Given the description of an element on the screen output the (x, y) to click on. 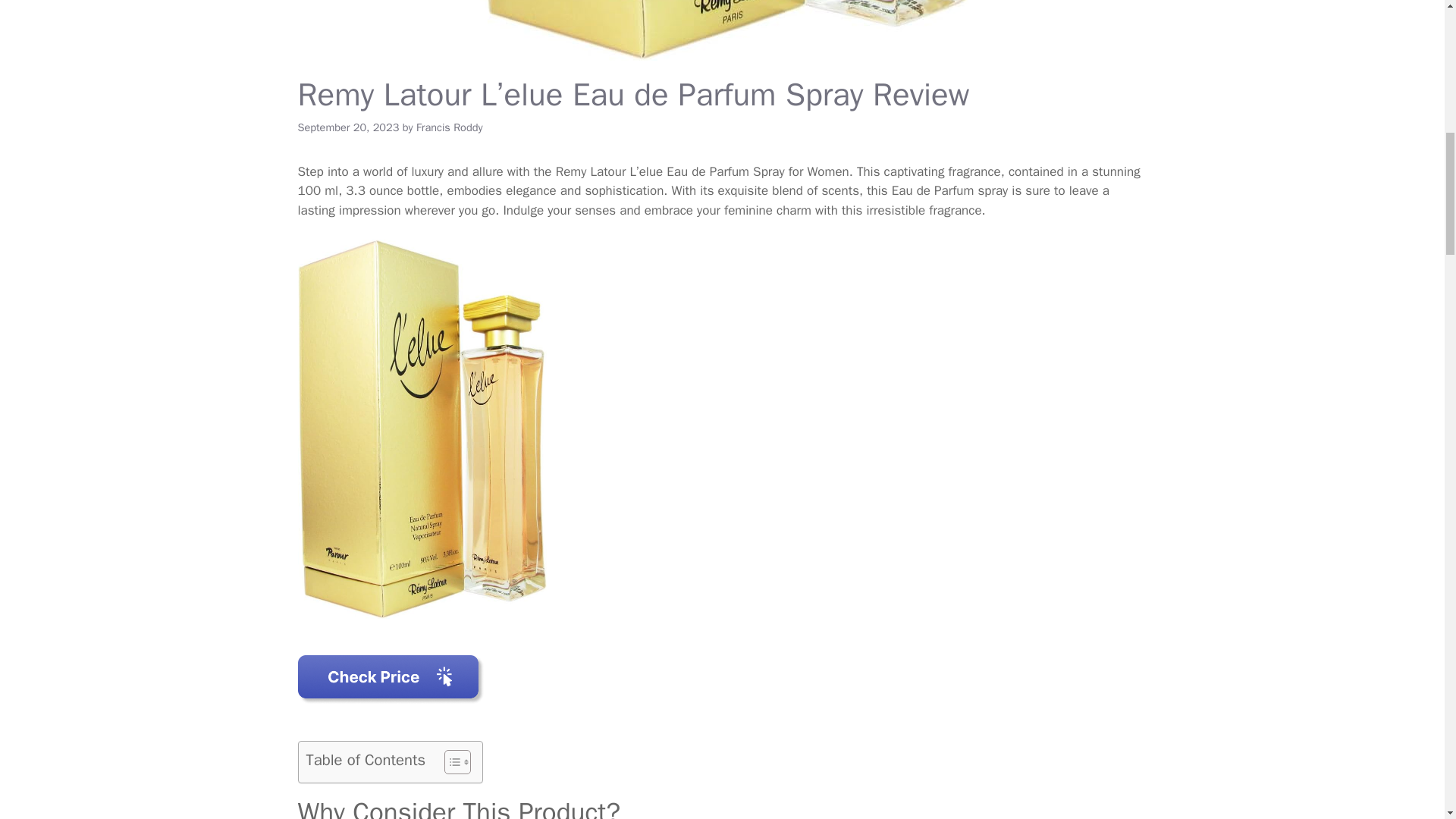
View all posts by Francis Roddy (449, 127)
Francis Roddy (449, 127)
